Given the description of an element on the screen output the (x, y) to click on. 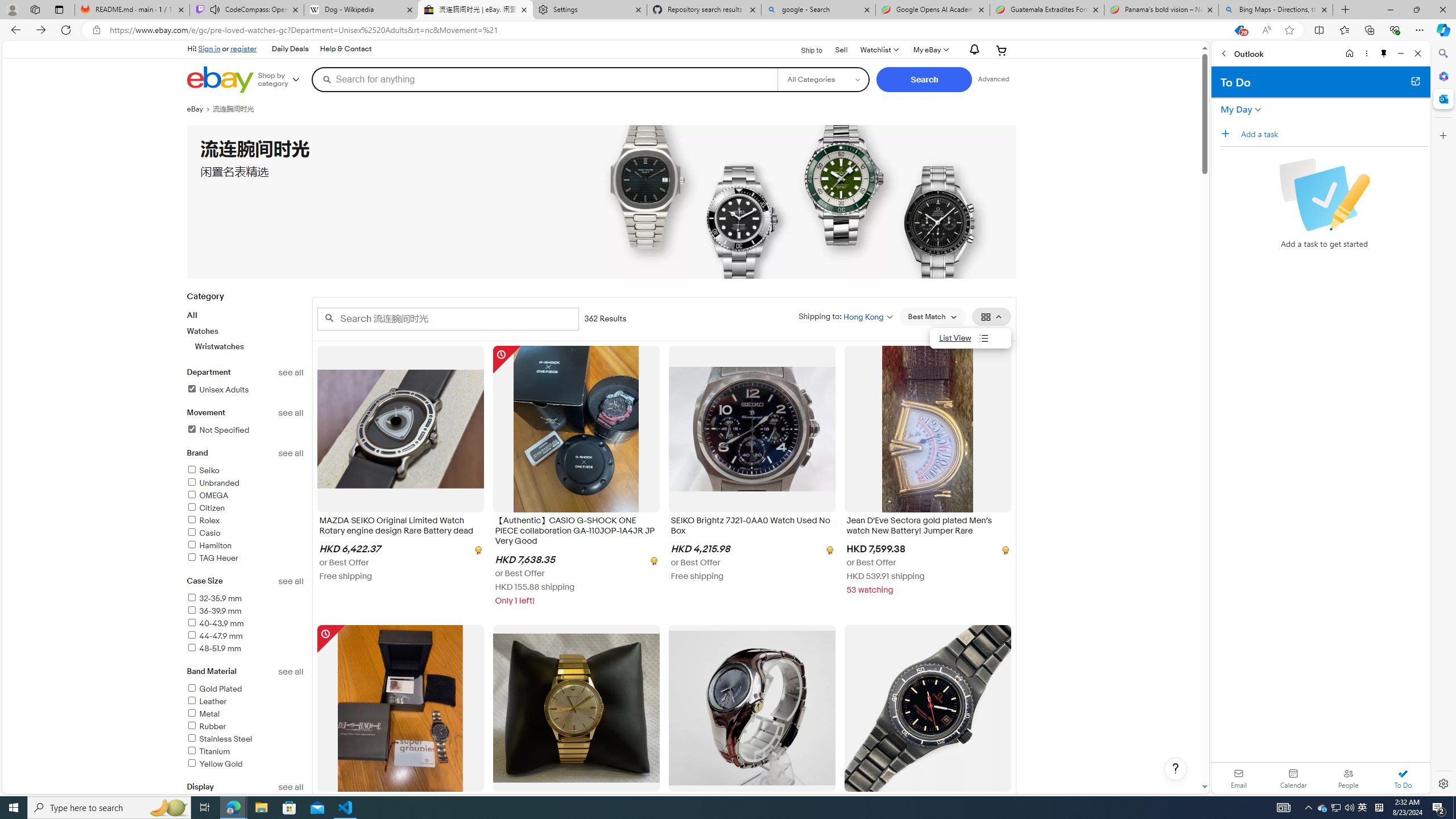
Departmentsee allUnisex AdultsFilter Applied (245, 387)
eBay (199, 108)
SEIKO Brightz 7J21-0AA0 Watch Used No Box (751, 527)
WatchlistExpand Watch List (878, 49)
Mute tab (215, 8)
Stainless Steel (218, 738)
Ship to (804, 50)
Wristwatches (249, 346)
List View (970, 338)
Unisex Adults Filter Applied (217, 389)
